Given the description of an element on the screen output the (x, y) to click on. 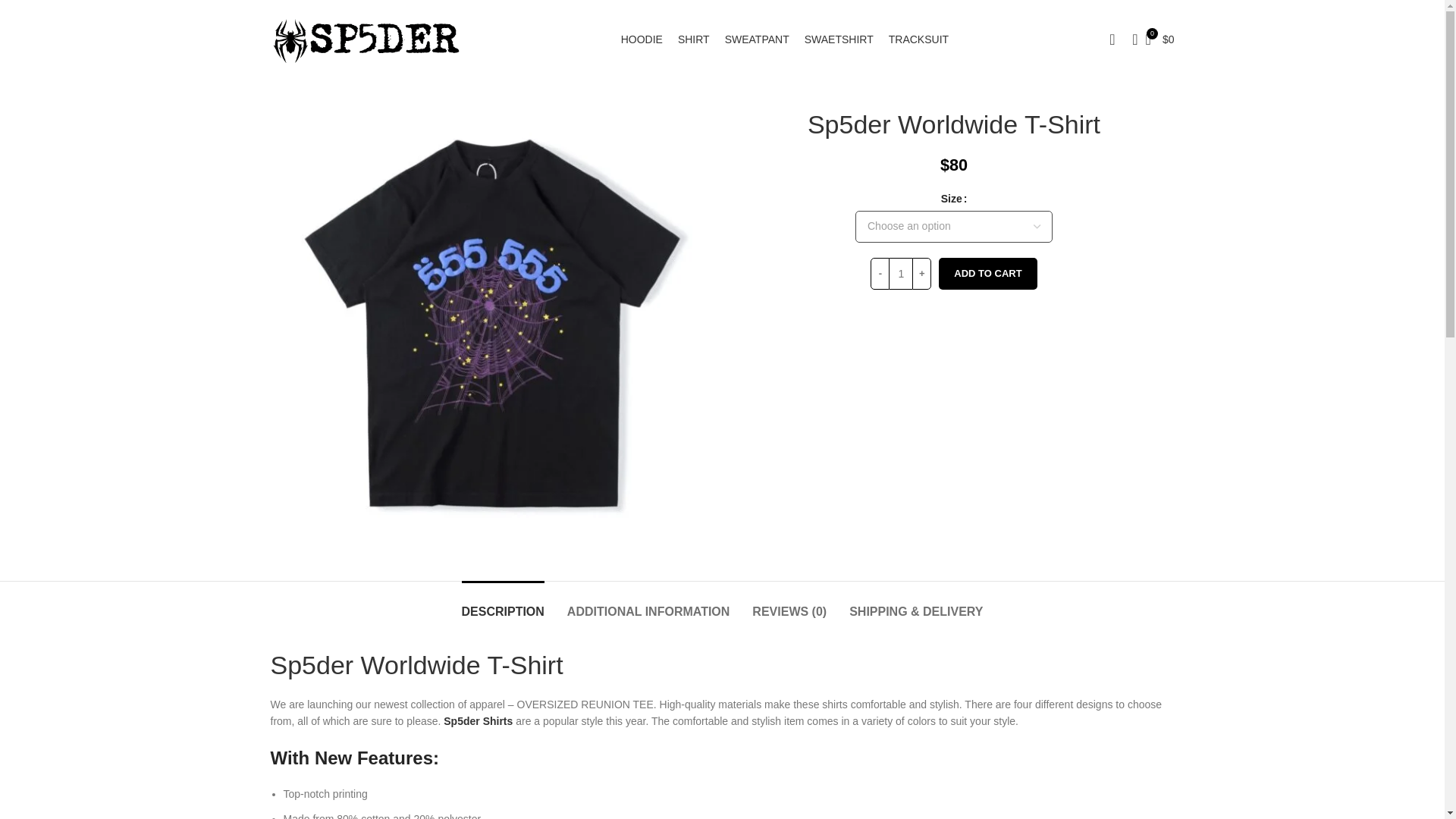
ADDITIONAL INFORMATION (648, 603)
Sp5der Shirts (478, 720)
HOODIE (641, 39)
SHIRT (694, 39)
ADD TO CART (987, 273)
SWEATPANT (757, 39)
SWAETSHIRT (839, 39)
TRACKSUIT (918, 39)
Shopping cart (1160, 39)
DESCRIPTION (502, 603)
